Given the description of an element on the screen output the (x, y) to click on. 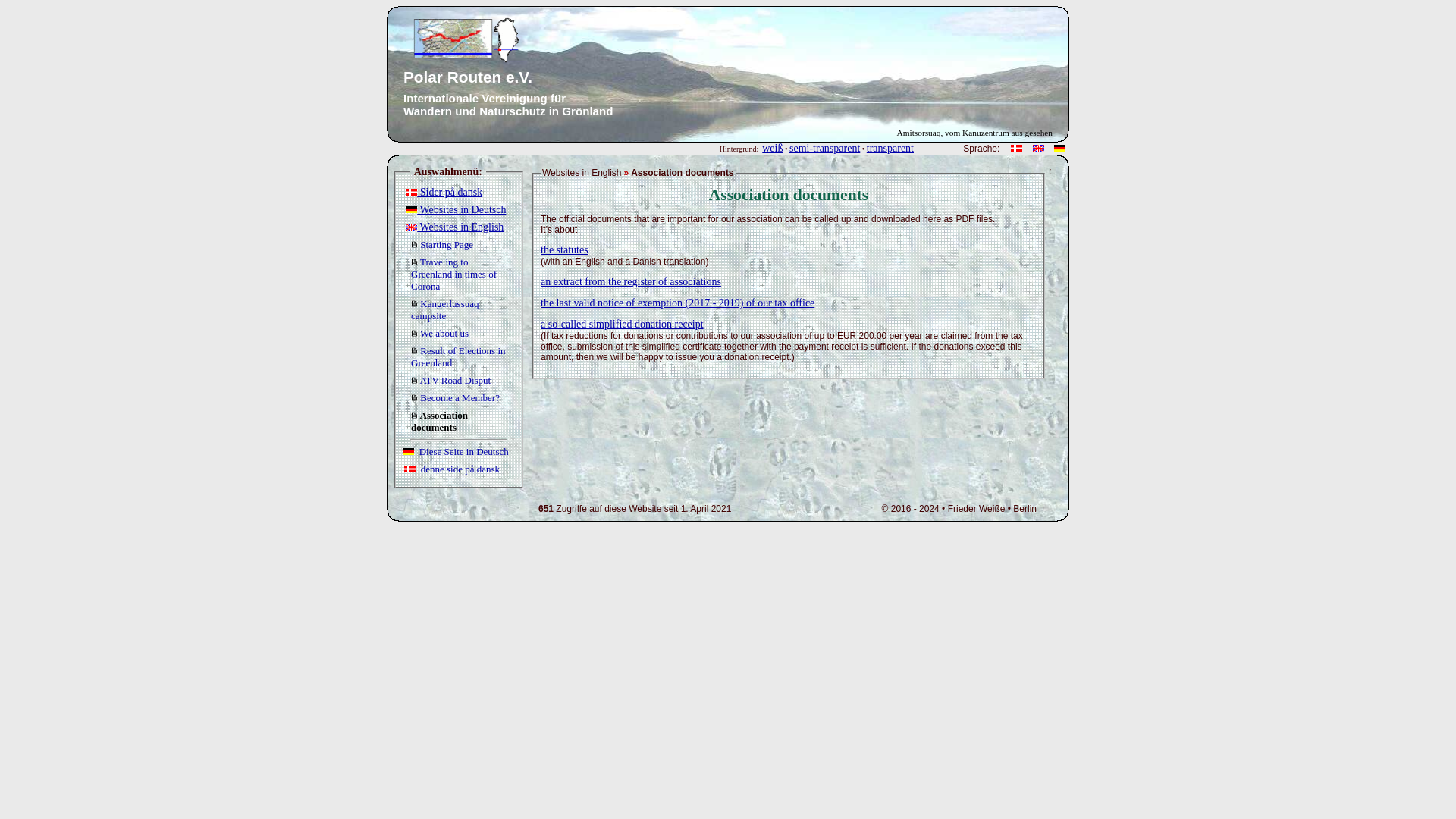
ATV Road Disput (450, 379)
semi-transparent (824, 147)
We about us (439, 333)
  Diese Seite in Deutsch (455, 451)
Websites in English (454, 226)
Starting Page (441, 244)
Traveling to Greenland in times of Corona (453, 273)
Result of Elections in Greenland (457, 356)
Websites in Deutsch (455, 209)
the statutes (564, 249)
